Given the description of an element on the screen output the (x, y) to click on. 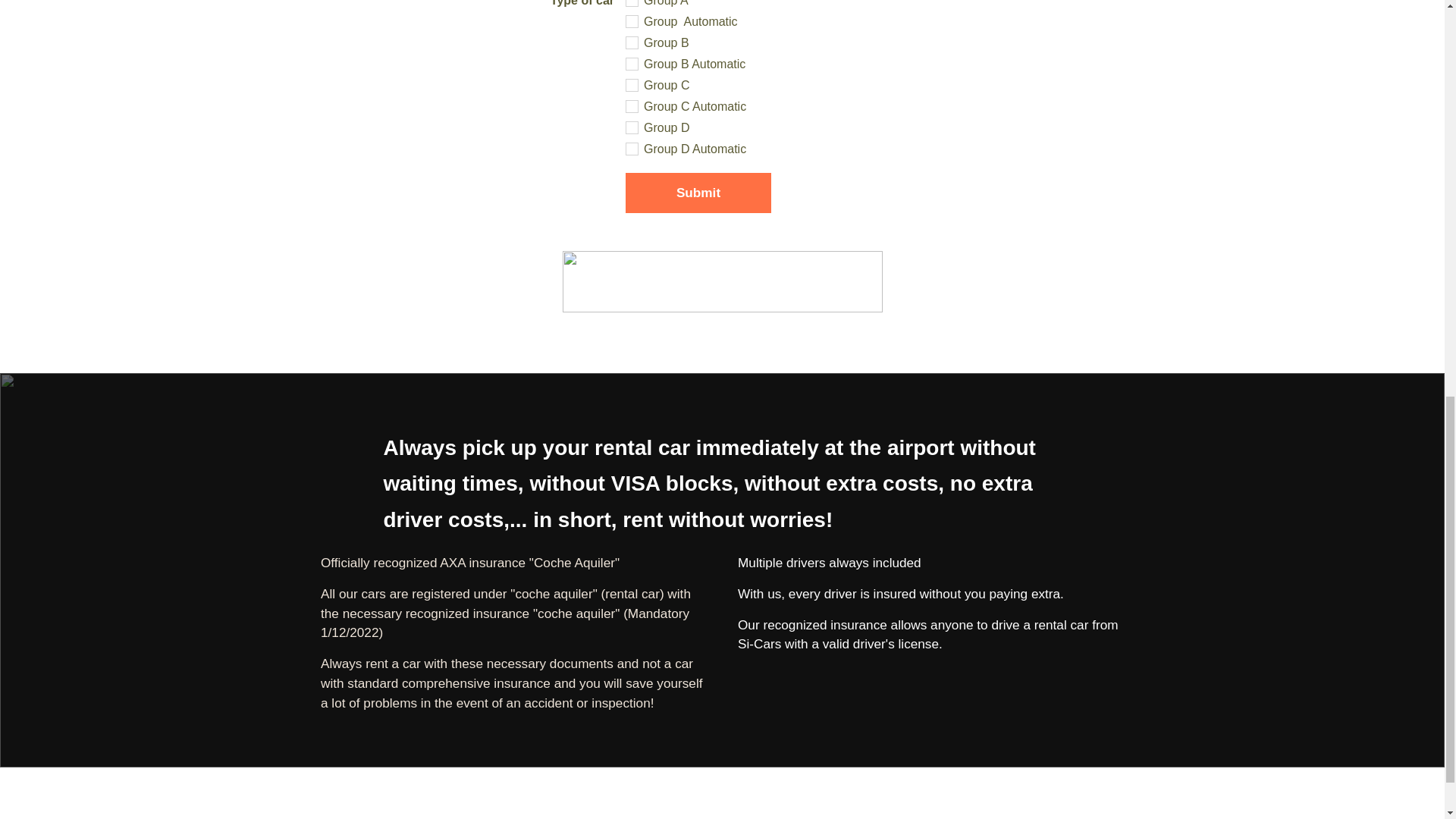
Submit (697, 192)
